Given the description of an element on the screen output the (x, y) to click on. 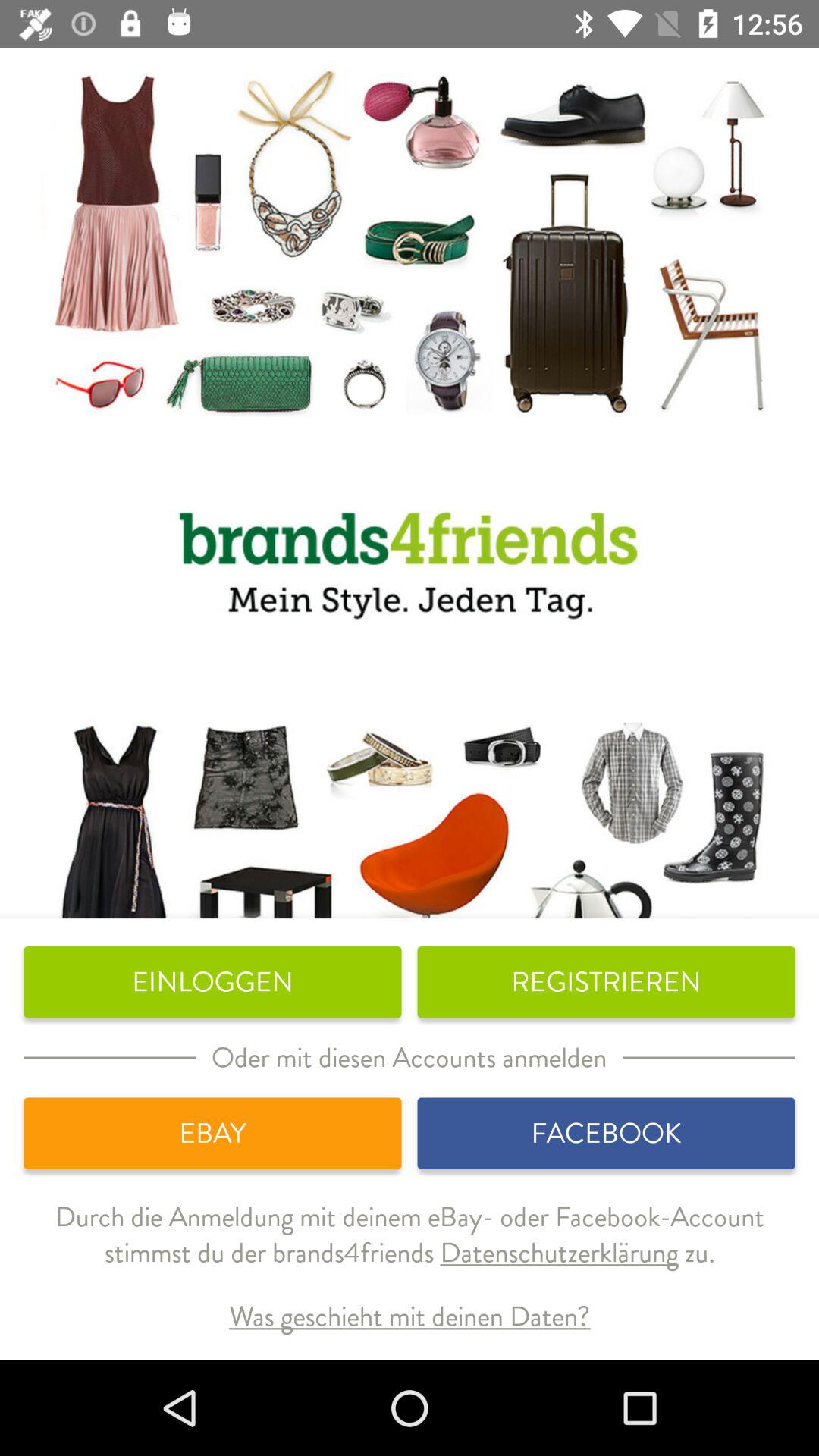
launch item below the durch die anmeldung item (409, 1316)
